Given the description of an element on the screen output the (x, y) to click on. 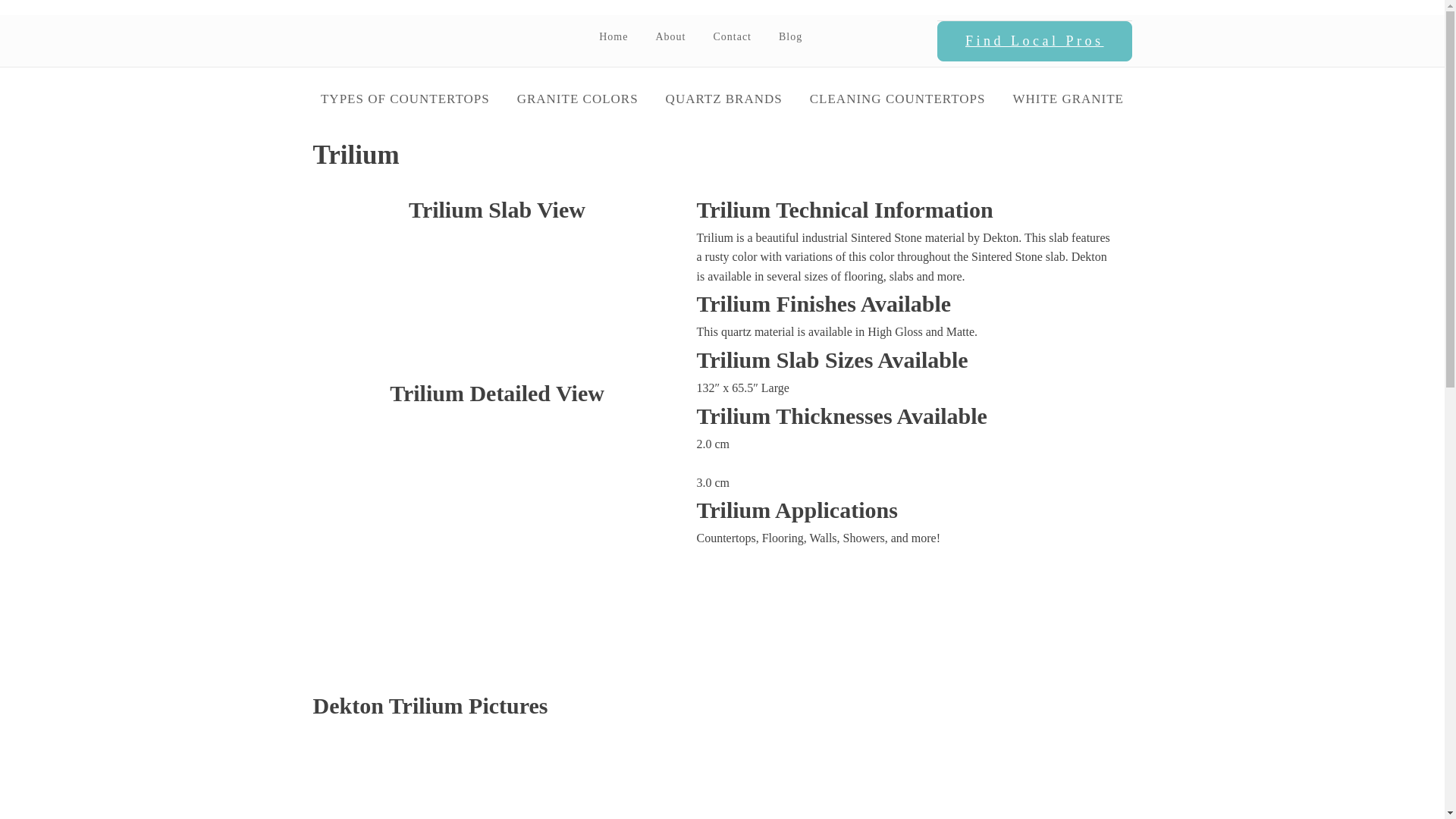
GRANITE COLORS (577, 98)
Blog (790, 36)
Find Local Pros (1034, 41)
CLEANING COUNTERTOPS (897, 98)
Contact (731, 36)
WHITE GRANITE (1067, 98)
QUARTZ BRANDS (724, 98)
About (670, 36)
Home (613, 36)
TYPES OF COUNTERTOPS (405, 98)
